Given the description of an element on the screen output the (x, y) to click on. 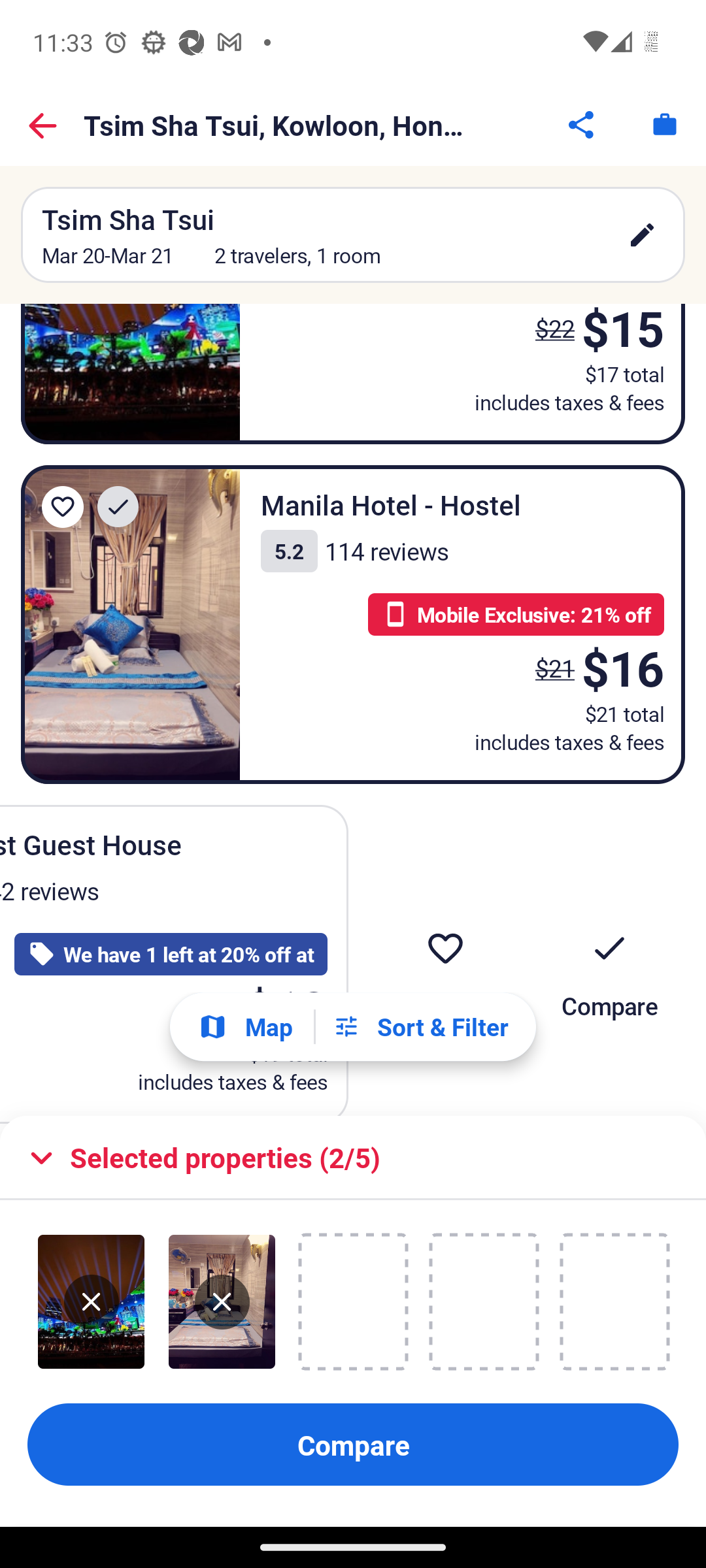
Share Button (582, 124)
Trips. Button (664, 124)
Everest Hostel (130, 373)
$22 The price was $22 (548, 337)
Manila Hotel - Hostel (130, 624)
Save Manila Hotel - Hostel to a trip (62, 506)
$21 The price was $21 (554, 667)
Save (444, 960)
Compare (608, 960)
Filters Sort & Filter Filters Button (420, 1026)
Show map Map Show map Button (244, 1025)
Unselect Everest Hostel (91, 1301)
Unselect Manila Hotel - Hostel (221, 1301)
Compare Properties Compare (352, 1444)
